Given the description of an element on the screen output the (x, y) to click on. 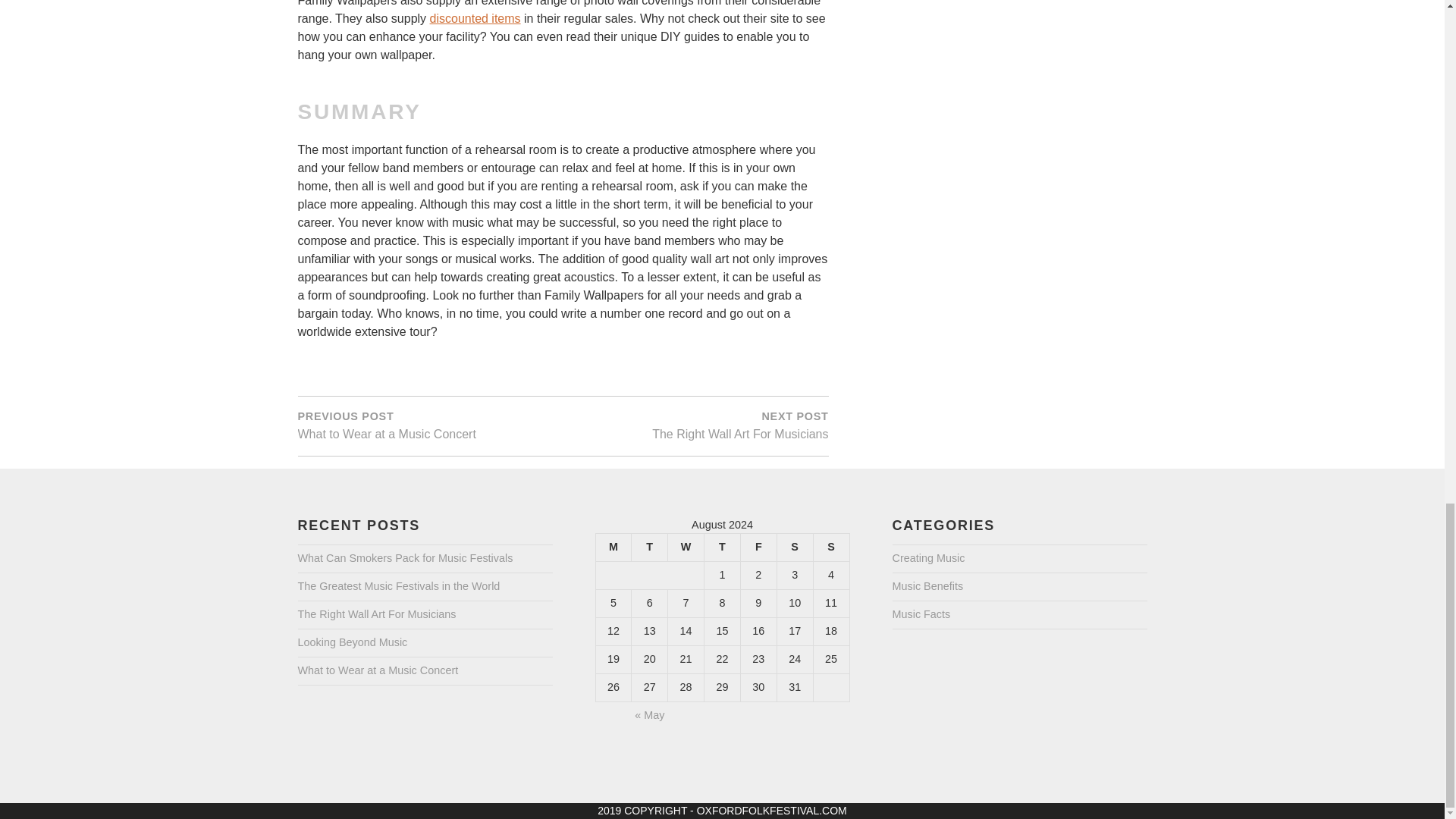
Tuesday (649, 547)
Monday (613, 547)
Looking Beyond Music (352, 643)
Sunday (695, 425)
Friday (830, 547)
discounted items (757, 547)
The Right Wall Art For Musicians (475, 19)
Music Benefits (376, 614)
Creating Music (926, 586)
